Given the description of an element on the screen output the (x, y) to click on. 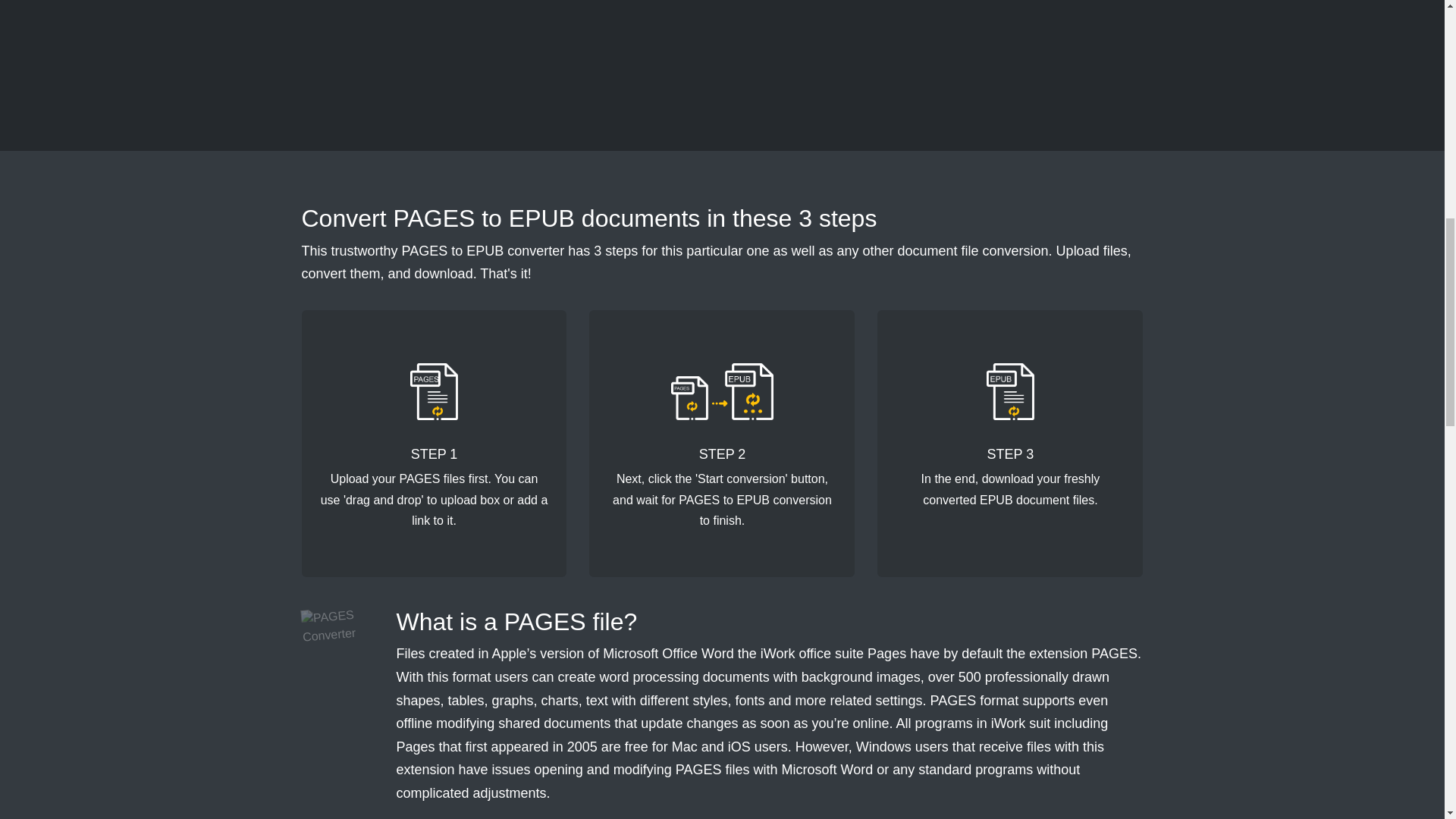
Download converted EPUB file (1011, 391)
Upload PAGES file (434, 391)
Converting PAGES to EPUB (722, 391)
